Given the description of an element on the screen output the (x, y) to click on. 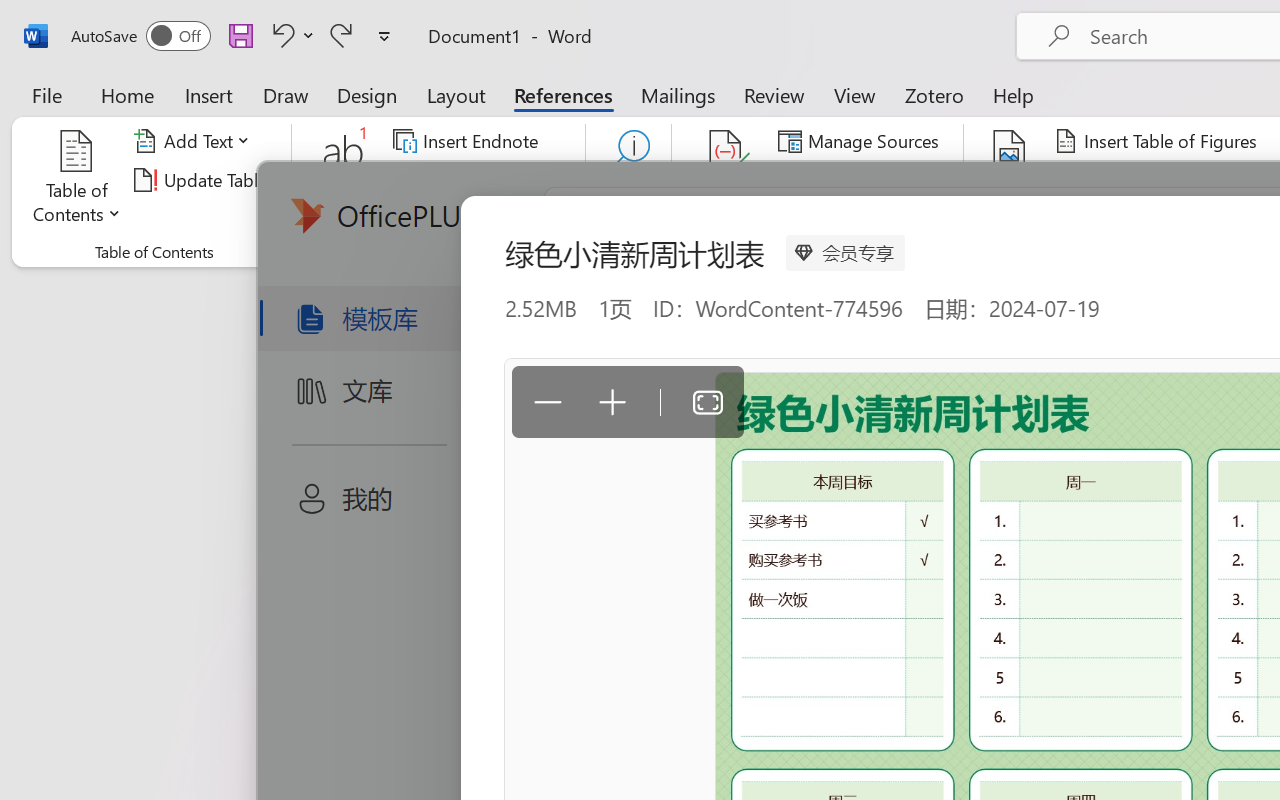
Redo Apply Quick Style (341, 35)
Update Table... (204, 179)
Insert Endnote (468, 141)
Style (901, 179)
Footnote and Endnote Dialog... (573, 252)
Add Text (195, 141)
Show Notes (459, 218)
